Given the description of an element on the screen output the (x, y) to click on. 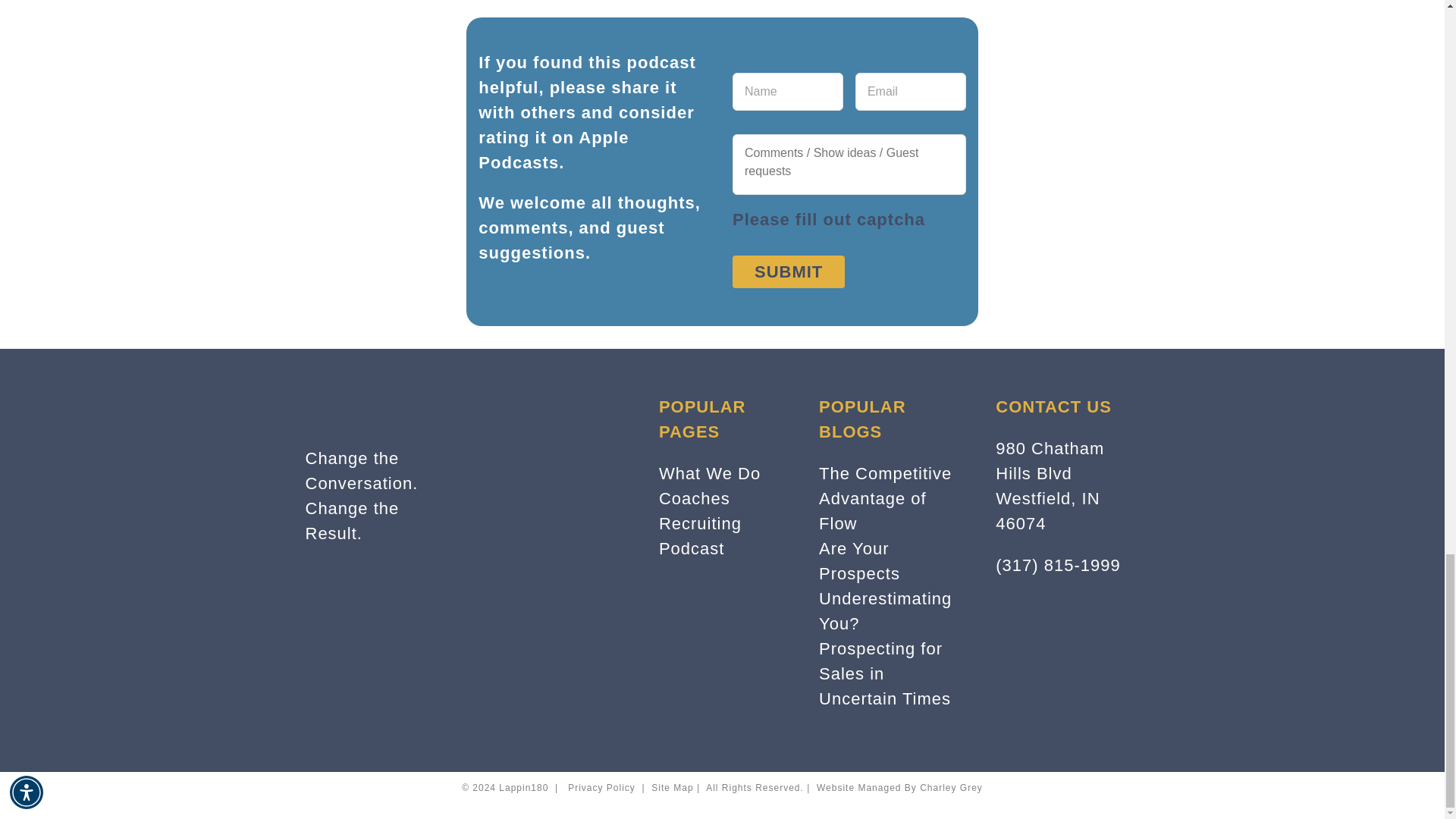
Recruiting (700, 523)
Podcast (692, 547)
Submit (788, 271)
Coaches (694, 497)
Submit (788, 271)
Are Your Prospects Underestimating You? (885, 585)
What We Do (709, 473)
The Competitive Advantage of Flow (885, 498)
